Given the description of an element on the screen output the (x, y) to click on. 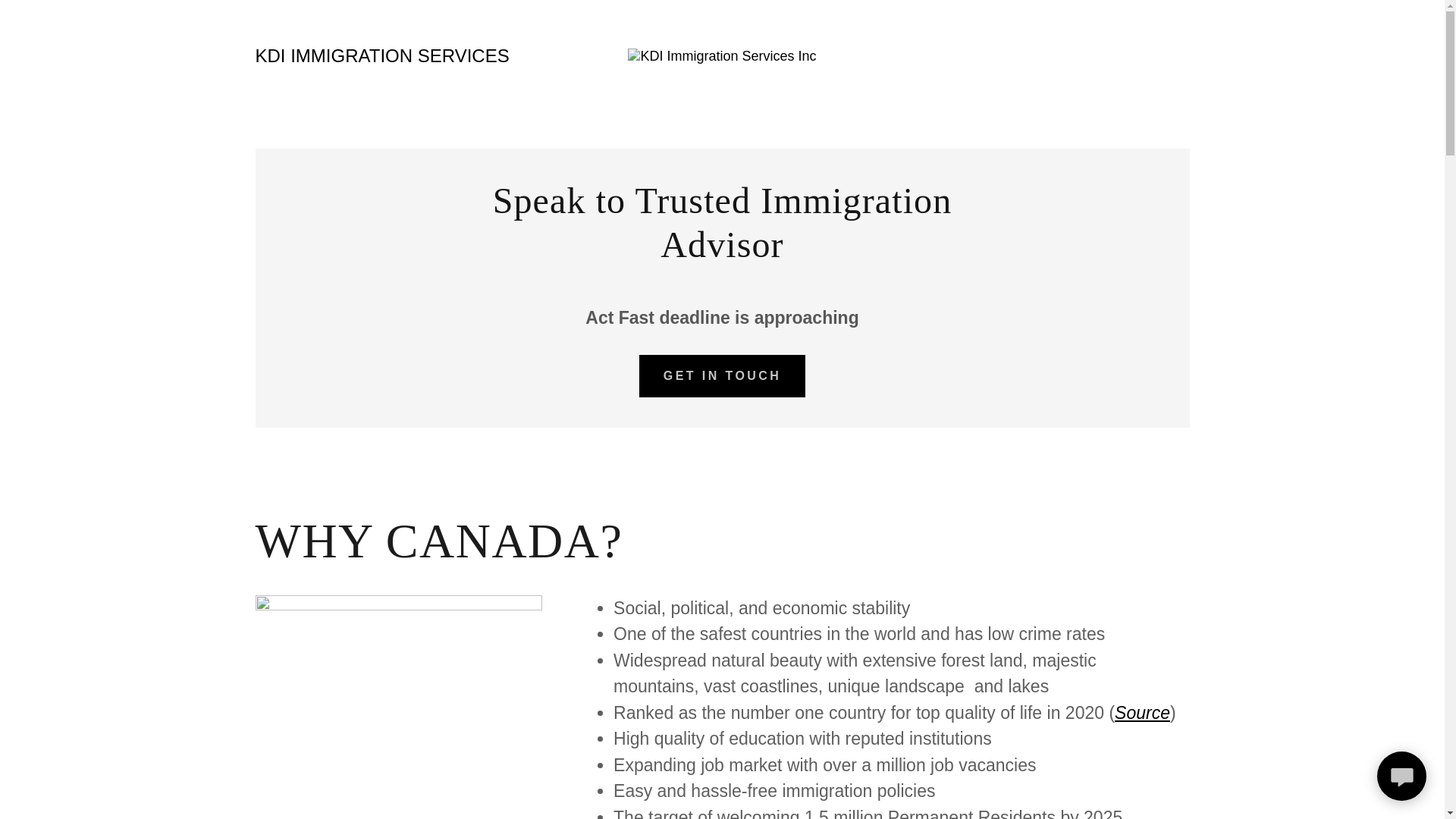
GET IN TOUCH (722, 375)
Source (1142, 712)
KDI Immigration Services Inc (721, 55)
